Given the description of an element on the screen output the (x, y) to click on. 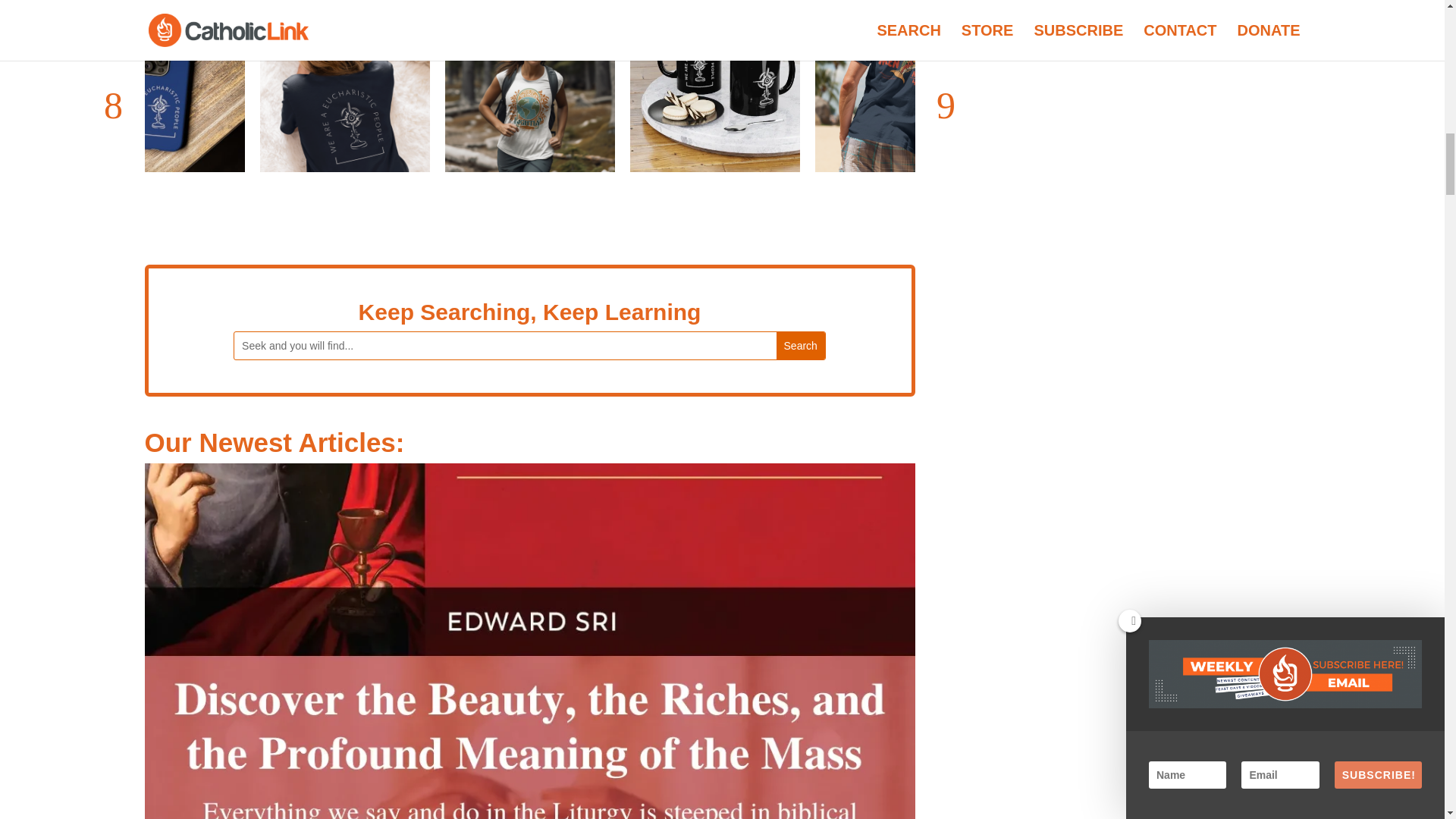
Search (800, 345)
Search (800, 345)
Search (800, 345)
